Given the description of an element on the screen output the (x, y) to click on. 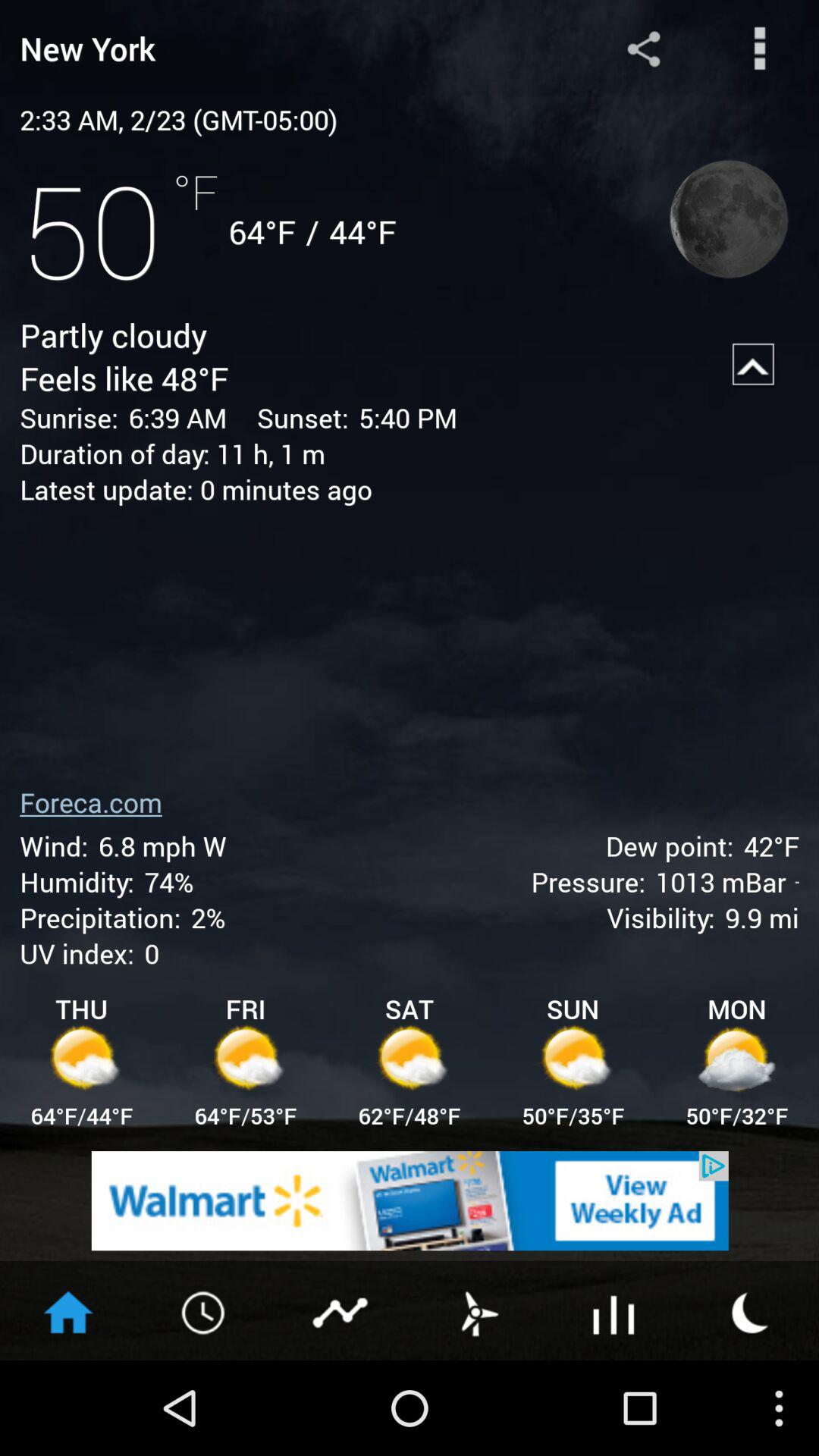
more options (759, 48)
